Given the description of an element on the screen output the (x, y) to click on. 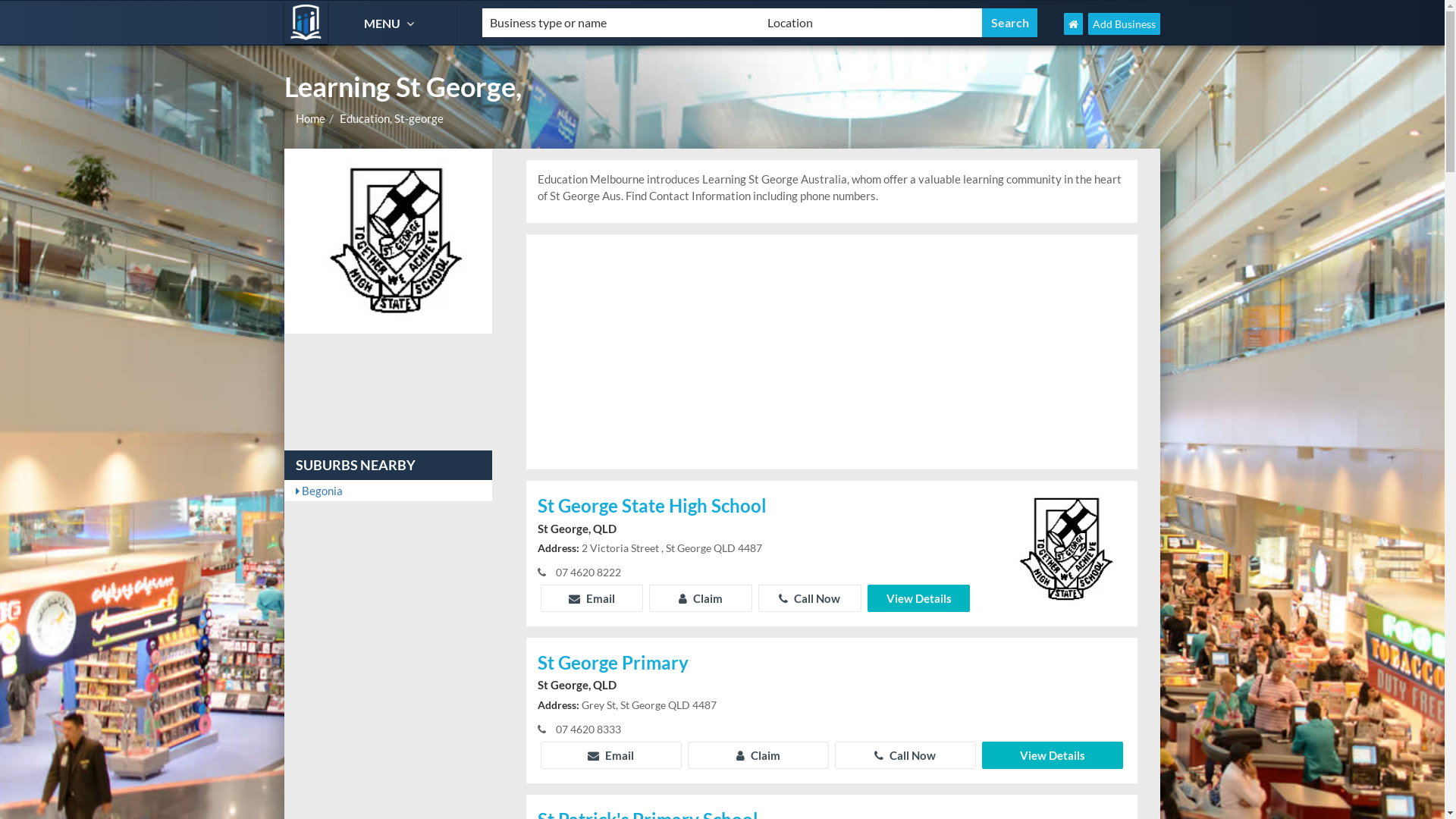
Add Business Element type: text (1124, 23)
Email Element type: text (591, 597)
Education, St-george Element type: text (391, 118)
View Details Element type: text (918, 597)
Begonia Element type: text (388, 490)
St George Primary Element type: text (831, 663)
St George State High School Element type: text (755, 506)
Advertisement Element type: hover (831, 351)
MENU Element type: text (390, 22)
Search Element type: text (1009, 22)
Home Element type: text (310, 118)
View Details Element type: text (1052, 754)
Claim Element type: text (757, 754)
Education Melbourne Home Page Element type: hover (1072, 23)
Call Now Element type: text (809, 597)
Education Melbourne Element type: hover (305, 21)
Call Now Element type: text (904, 754)
More info on St George State High School Element type: hover (1060, 547)
Email Element type: text (610, 754)
Claim Element type: text (700, 597)
